Given the description of an element on the screen output the (x, y) to click on. 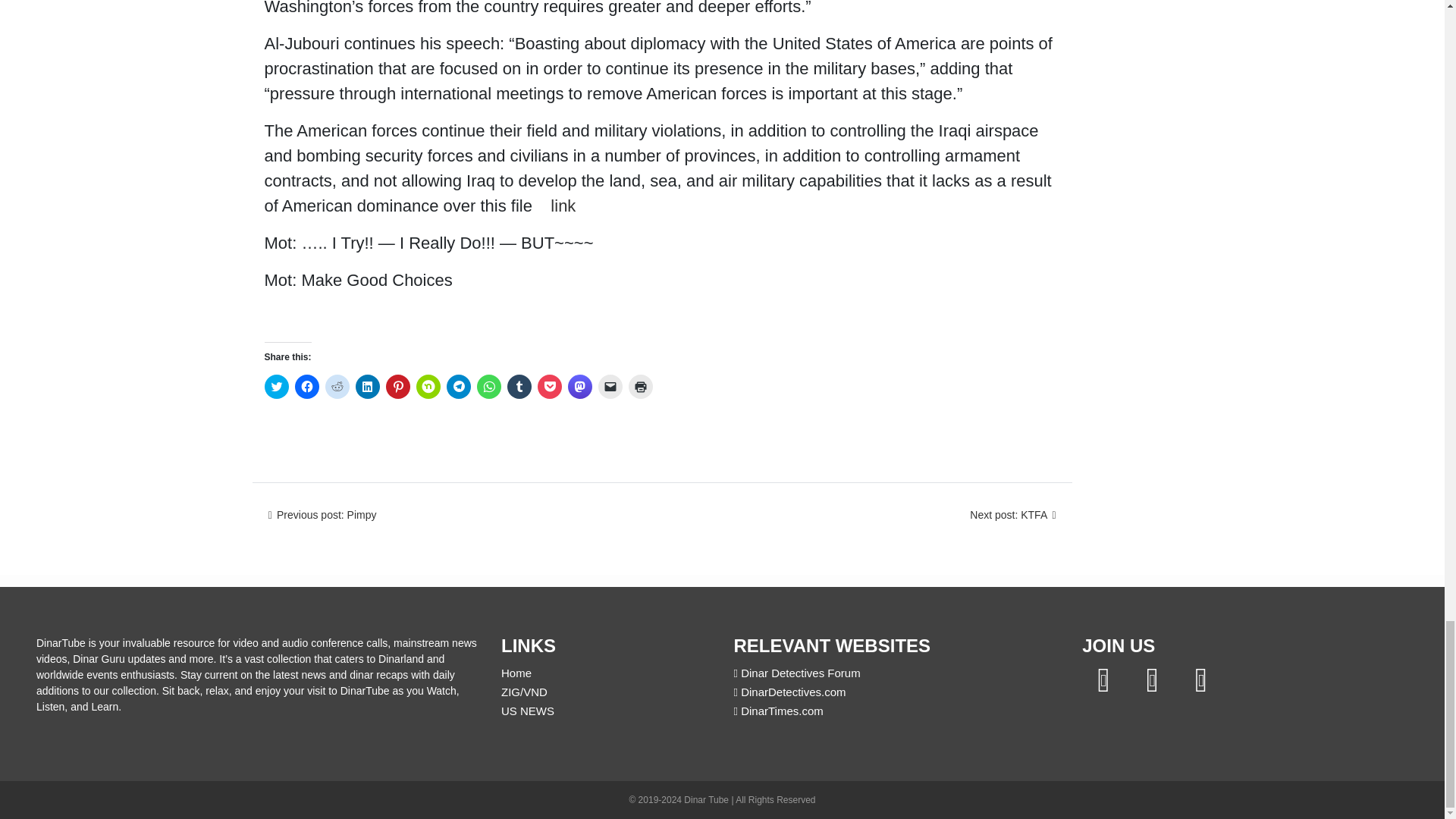
link (562, 205)
Click to share on Tumblr (518, 386)
Click to email a link to a friend (608, 386)
Click to share on Pinterest (397, 386)
 DinarTimes.com (777, 710)
 Dinar Detectives Forum (796, 672)
US NEWS (527, 710)
Next post: KTFA (1014, 514)
Home (515, 672)
Click to share on Pocket (548, 386)
Click to print (639, 386)
Dinar Tube (706, 799)
